Given the description of an element on the screen output the (x, y) to click on. 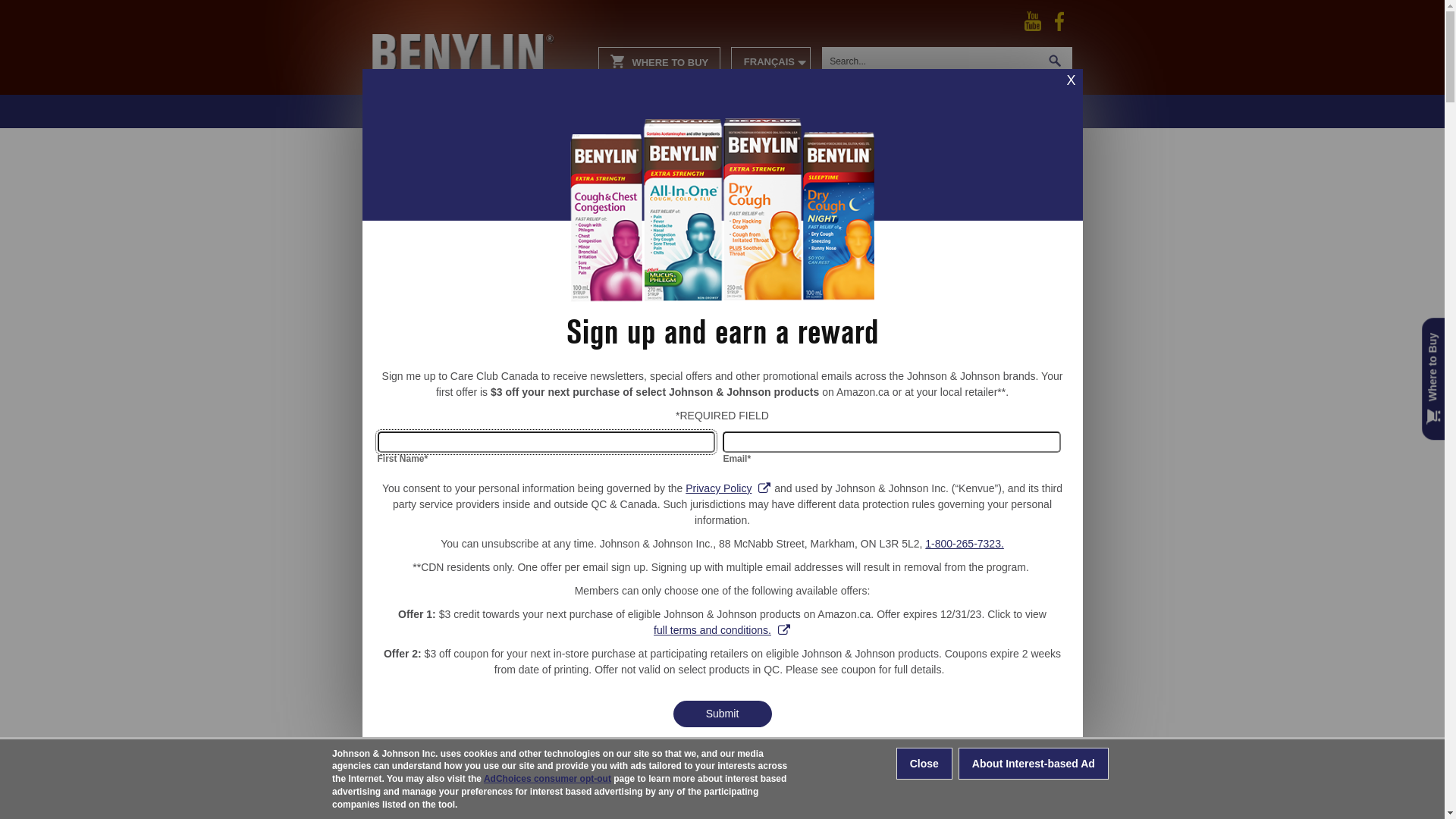
Submit Element type: text (722, 713)
YouTube Element type: hover (1032, 20)
Benylin Homepage Element type: hover (477, 38)
PRODUCTS Element type: text (769, 111)
Apply Element type: text (22, 11)
SYMPTOMS & TIPS Element type: text (879, 111)
AdChoices consumer opt-out Element type: text (547, 779)
WHERE TO BUY Element type: text (659, 60)
X Element type: text (1071, 80)
HOME Element type: text (695, 111)
Mother hugging her child Element type: hover (989, 245)
Facebook Element type: hover (1058, 20)
FaceBook Social Icon for Benylin.ca Element type: hover (1058, 21)
Close Element type: text (924, 763)
full terms and conditions.
Open link in new window Element type: text (721, 630)
About Interest-based Ad Element type: text (1033, 763)
Enter the terms you wish to search for. Element type: hover (930, 59)
Search Element type: text (1054, 59)
Skip to main content Element type: text (37, 0)
SPECIAL OFFERS Element type: text (1004, 111)
YouTube Social Icon for Benylin.ca Element type: hover (1032, 21)
Privacy Policy
Open link in new window Element type: text (728, 488)
BENEFITS OF IVY LEAF EXTRACT FOR COUGH Element type: text (986, 570)
RELIEVING COUGH SYMPTOMS: HOME REMEDIES FOR KIDS Element type: text (986, 324)
